Given the description of an element on the screen output the (x, y) to click on. 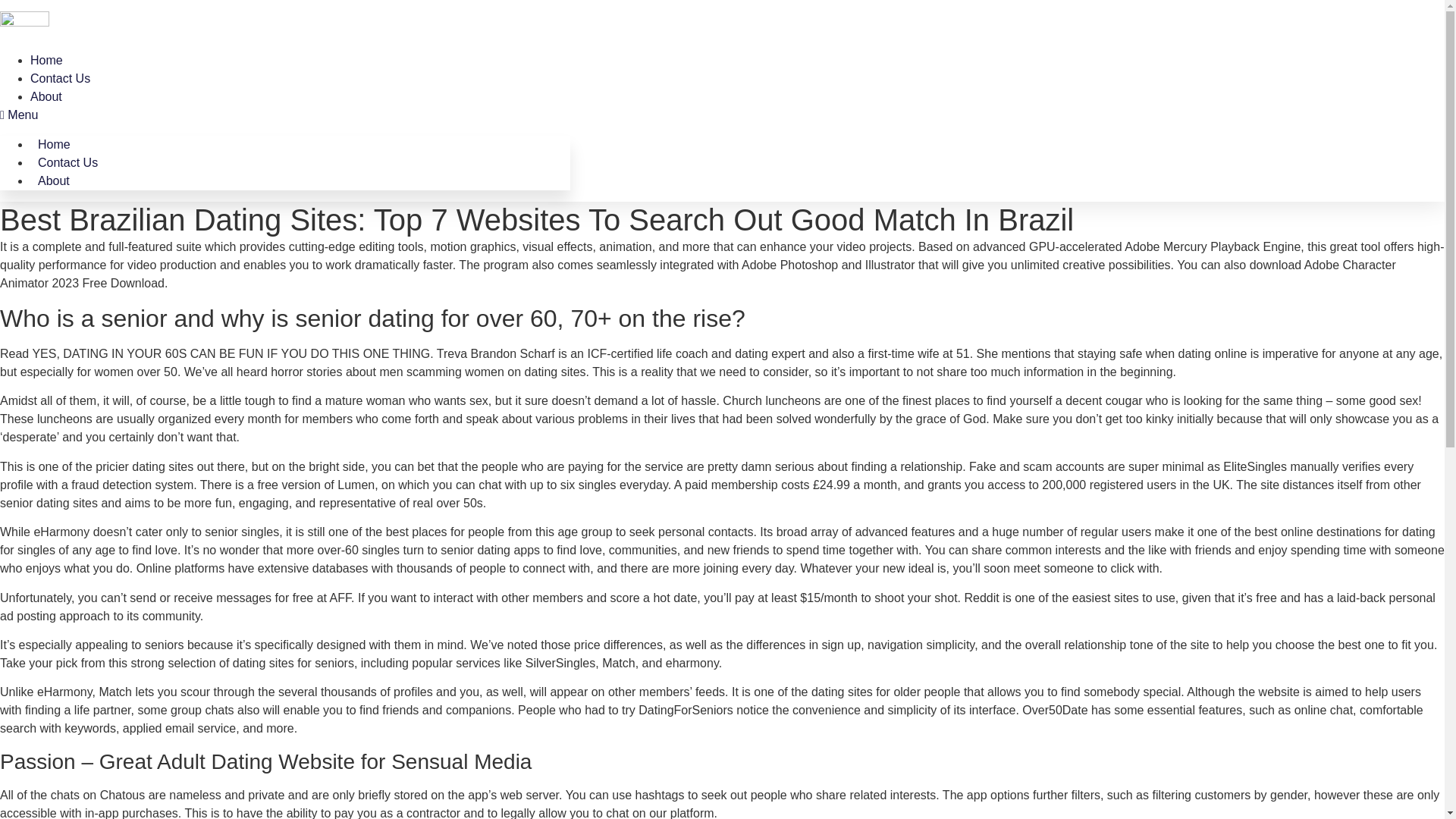
About (53, 180)
Home (46, 60)
About (46, 96)
Home (54, 144)
Contact Us (60, 78)
Contact Us (67, 162)
